Given the description of an element on the screen output the (x, y) to click on. 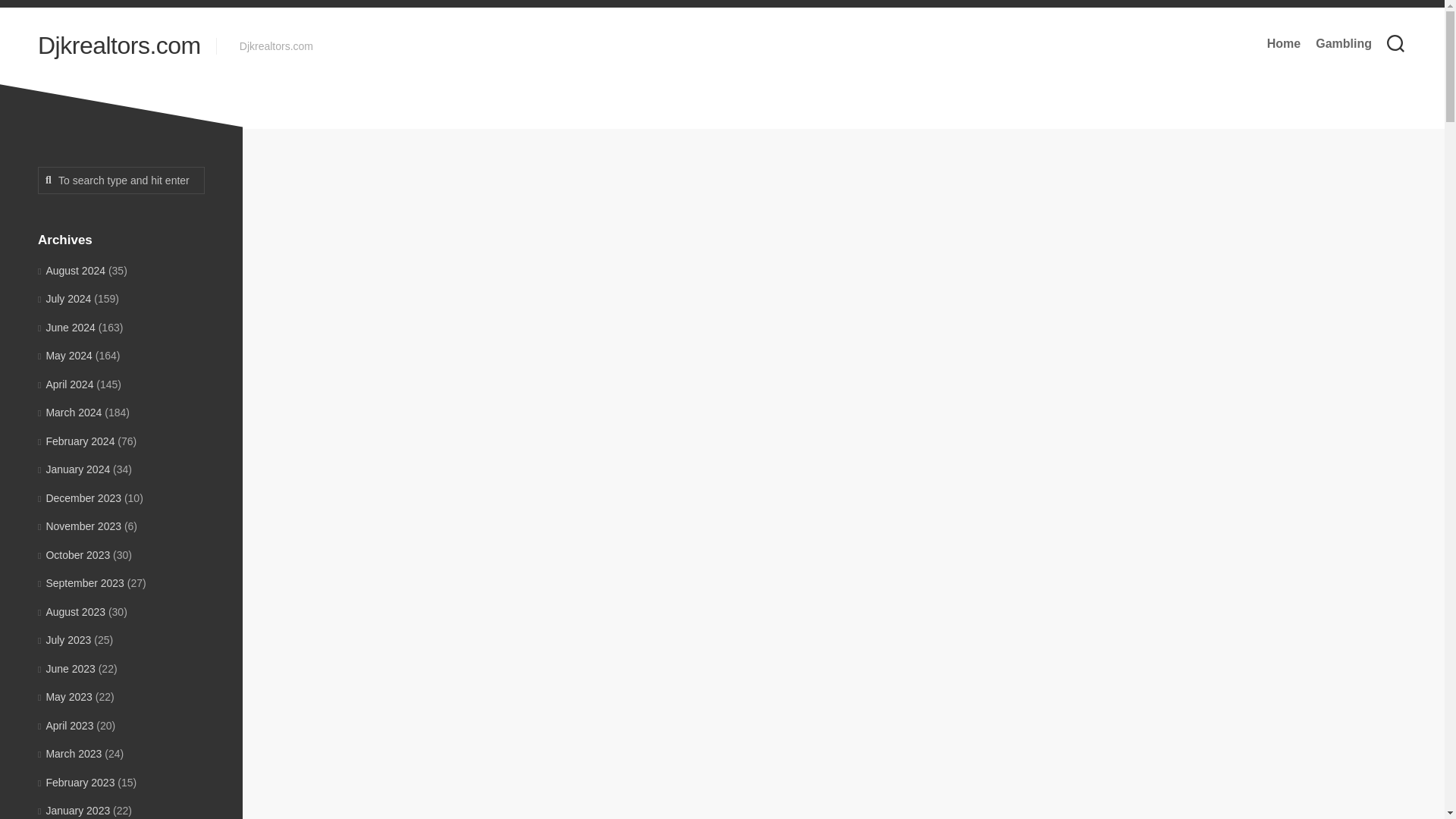
admin (724, 327)
August 2023 (70, 611)
June 2024 (66, 327)
May 2023 (65, 696)
live sdy (635, 519)
March 2023 (69, 753)
To search type and hit enter (121, 180)
July 2023 (63, 639)
February 2024 (76, 440)
Posts by admin (724, 327)
